Given the description of an element on the screen output the (x, y) to click on. 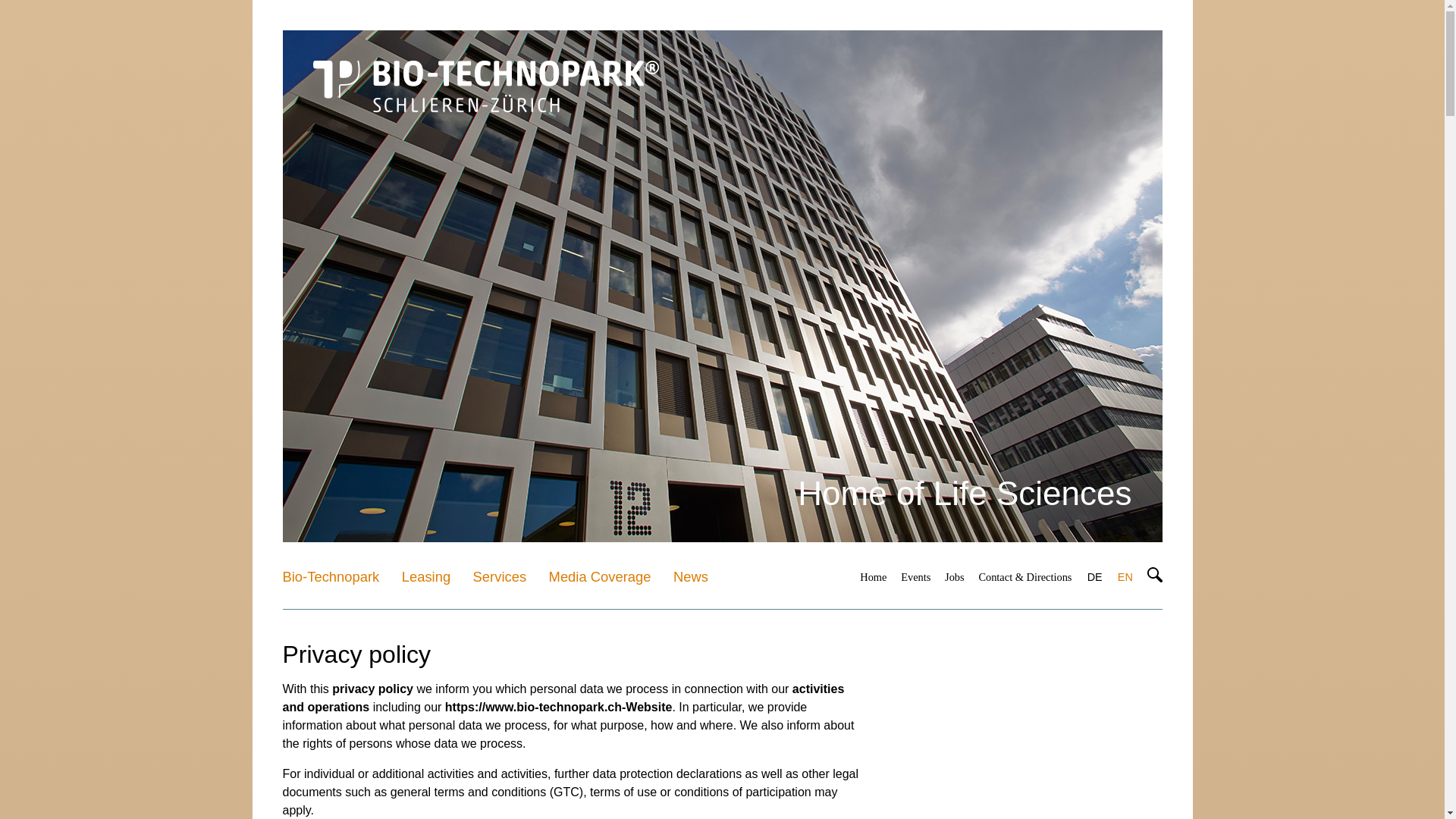
Deutsch (1094, 577)
News (689, 577)
EN (1125, 577)
Leasing (425, 577)
Home (873, 577)
English (1125, 577)
Services (500, 577)
Bio-Technopark (330, 577)
DE (1094, 577)
Jobs (953, 577)
